Given the description of an element on the screen output the (x, y) to click on. 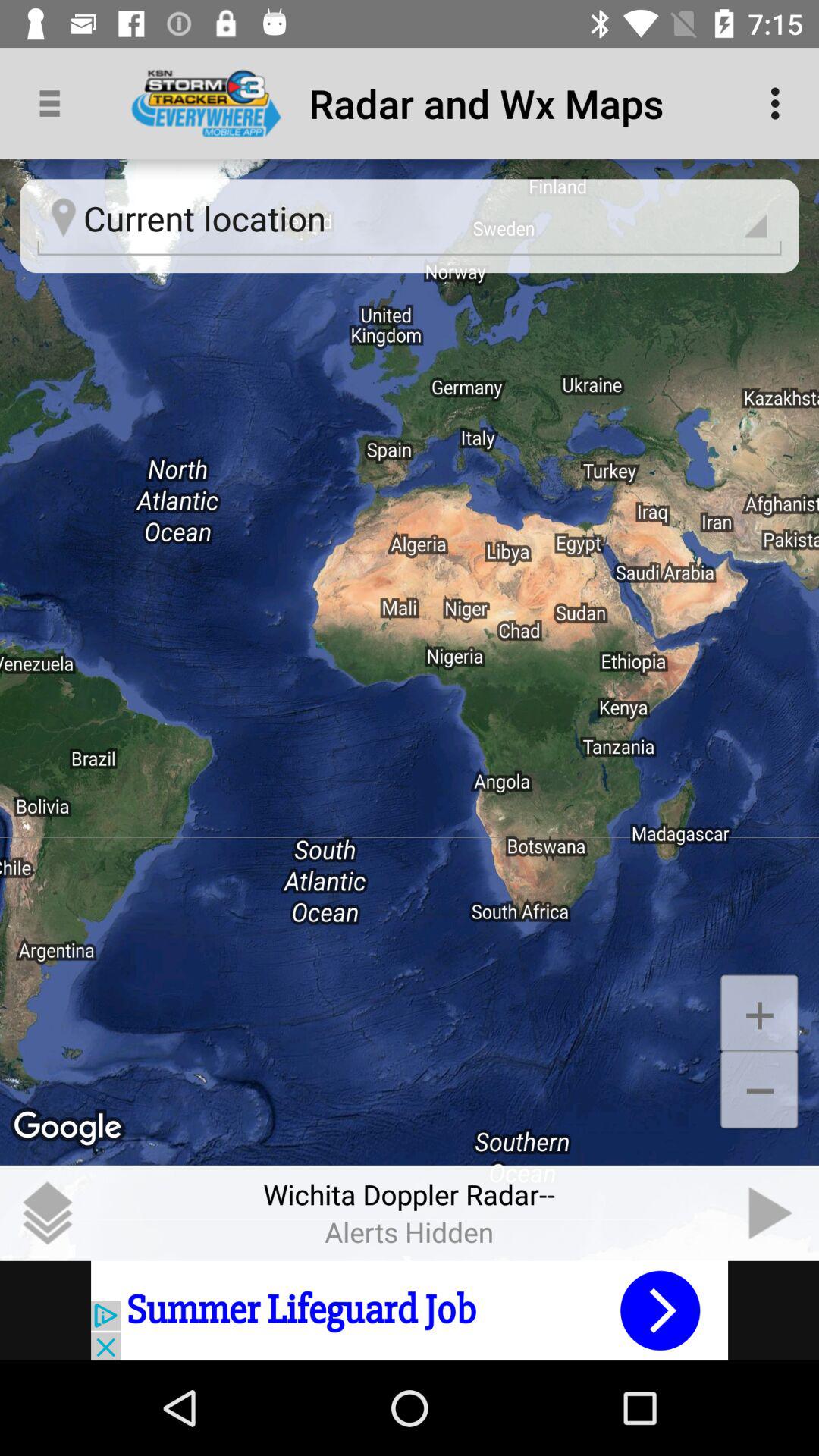
play button (771, 1212)
